Given the description of an element on the screen output the (x, y) to click on. 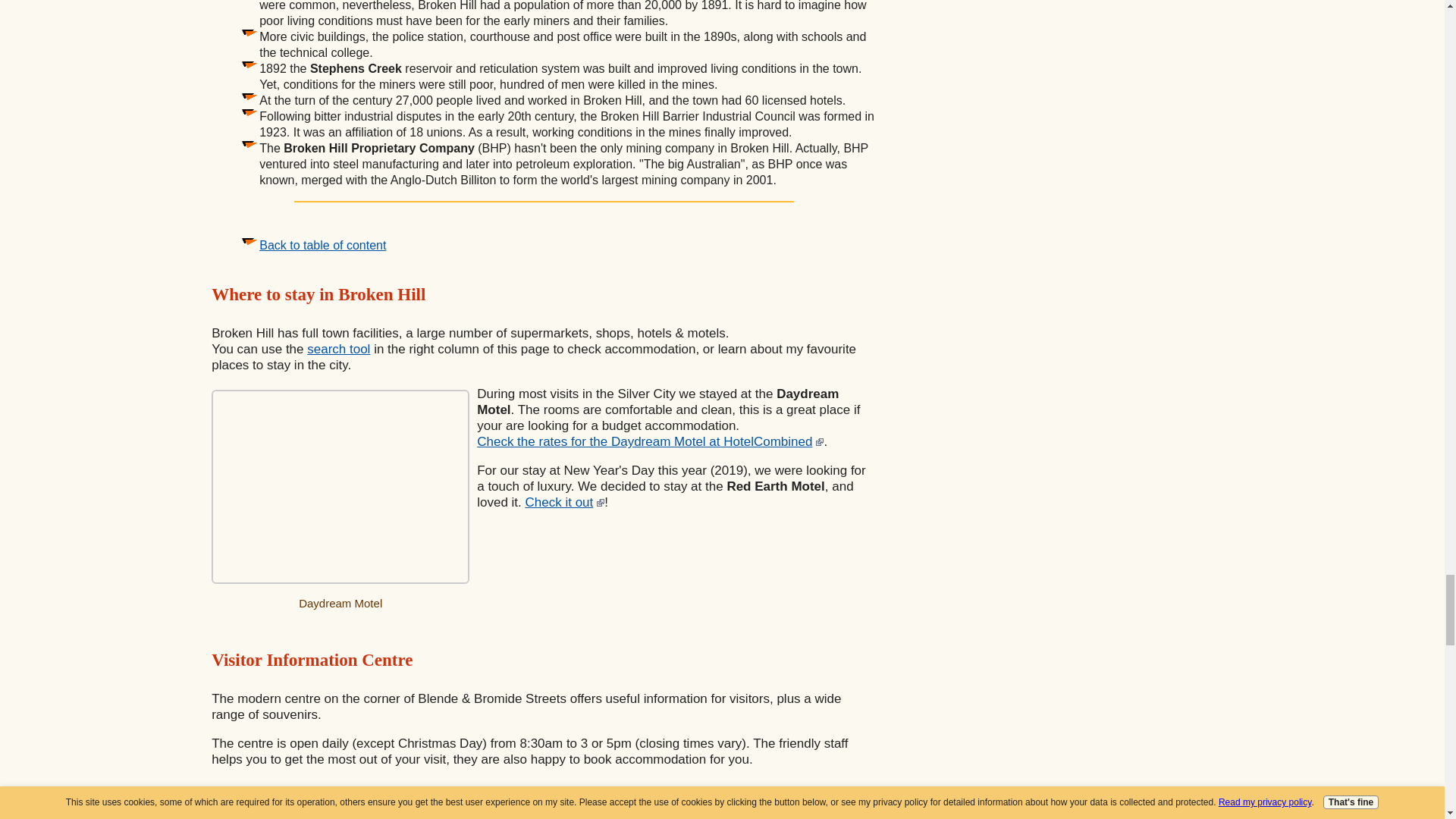
A row of motel rooms (339, 486)
